Given the description of an element on the screen output the (x, y) to click on. 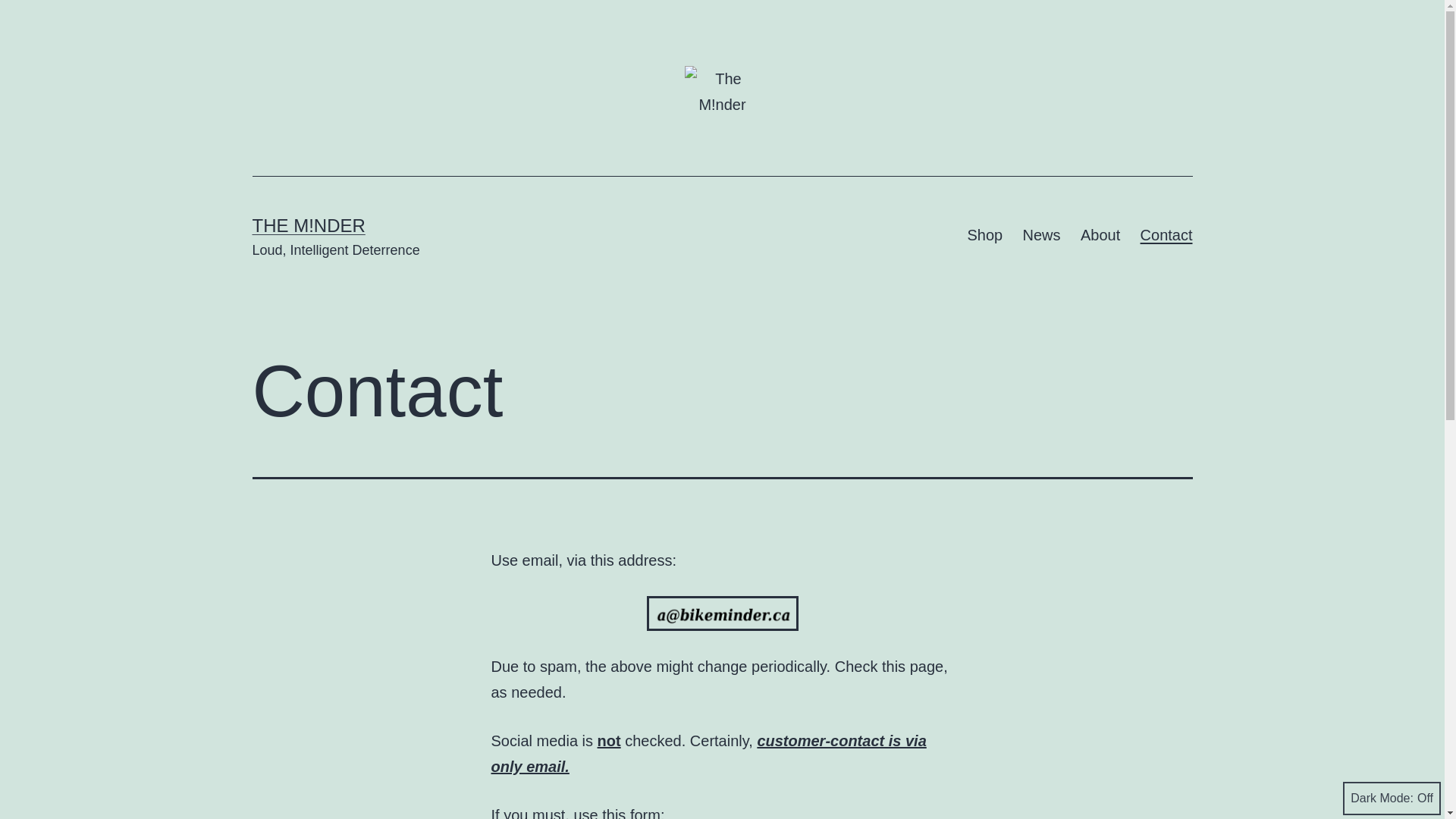
News Element type: text (1041, 235)
Dark Mode: Element type: text (1391, 798)
Contact Element type: text (1165, 235)
Shop Element type: text (984, 235)
THE M!NDER Element type: text (307, 225)
About Element type: text (1100, 235)
